Given the description of an element on the screen output the (x, y) to click on. 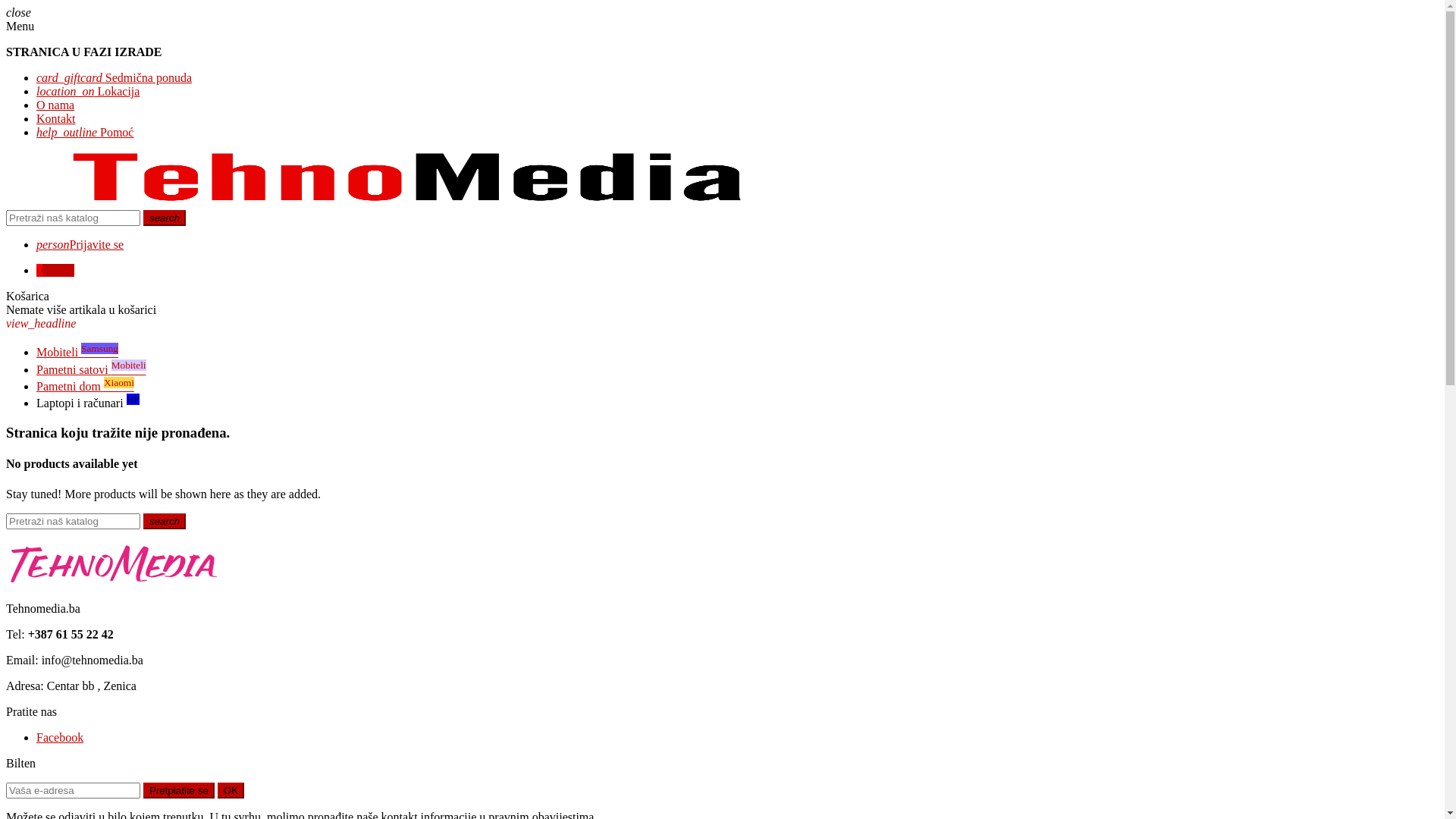
Pametni dom Xiaomi Element type: text (85, 385)
Kontakt Element type: text (55, 118)
O nama Element type: text (55, 104)
Mobiteli Samsung Element type: text (77, 351)
location_on Lokacija Element type: text (87, 90)
Tehnomedia.ba - Kutak tehnike Element type: hover (409, 202)
Pametni satovi Mobiteli Element type: text (91, 369)
personPrijavite se Element type: text (79, 244)
search Element type: text (164, 521)
Pretplatite se Element type: text (178, 790)
search Element type: text (164, 217)
0 0 KM Element type: text (55, 269)
Facebook Element type: text (59, 737)
OK Element type: text (230, 790)
